Given the description of an element on the screen output the (x, y) to click on. 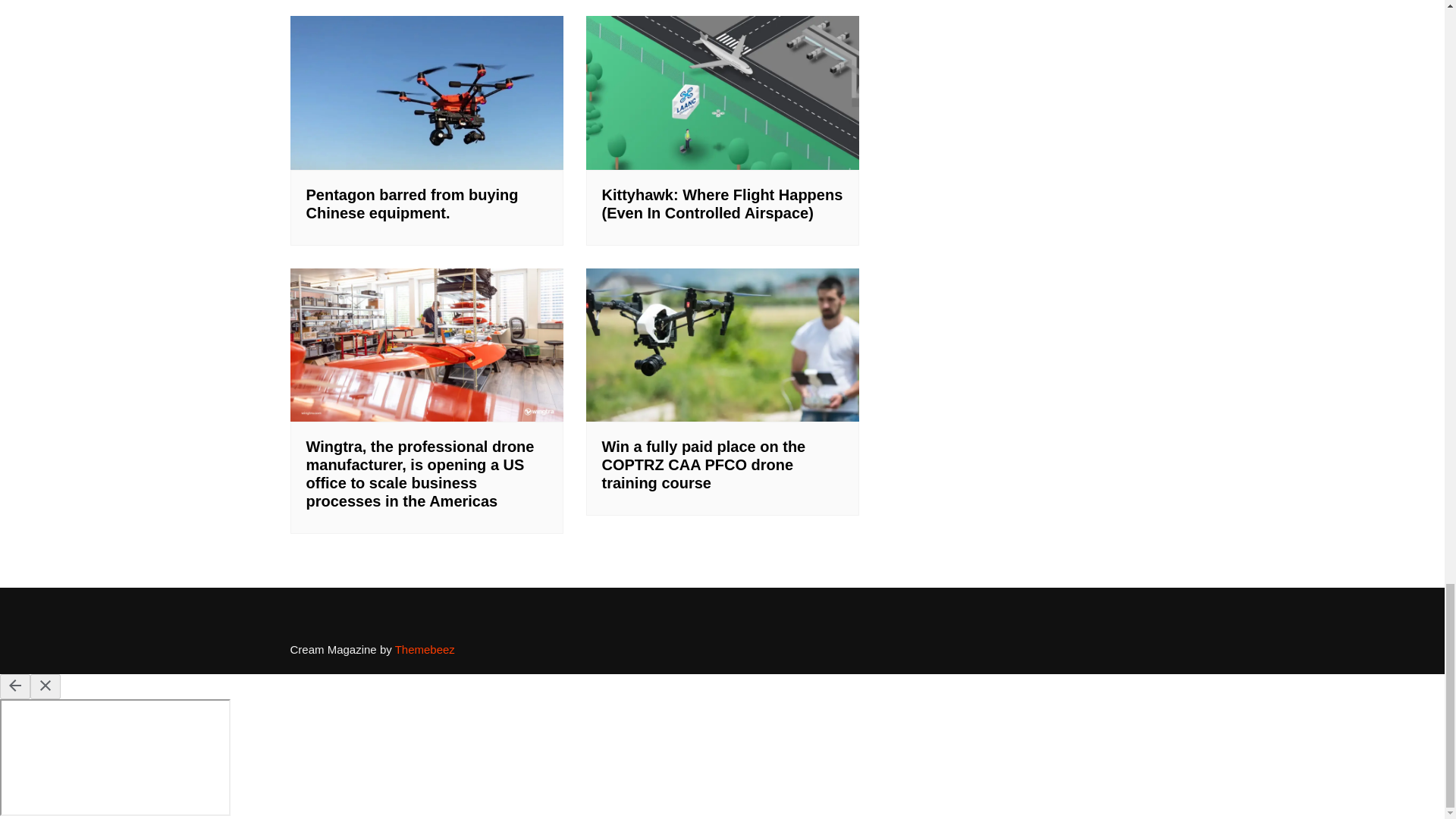
Pentagon barred from buying Chinese equipment. (411, 203)
